Given the description of an element on the screen output the (x, y) to click on. 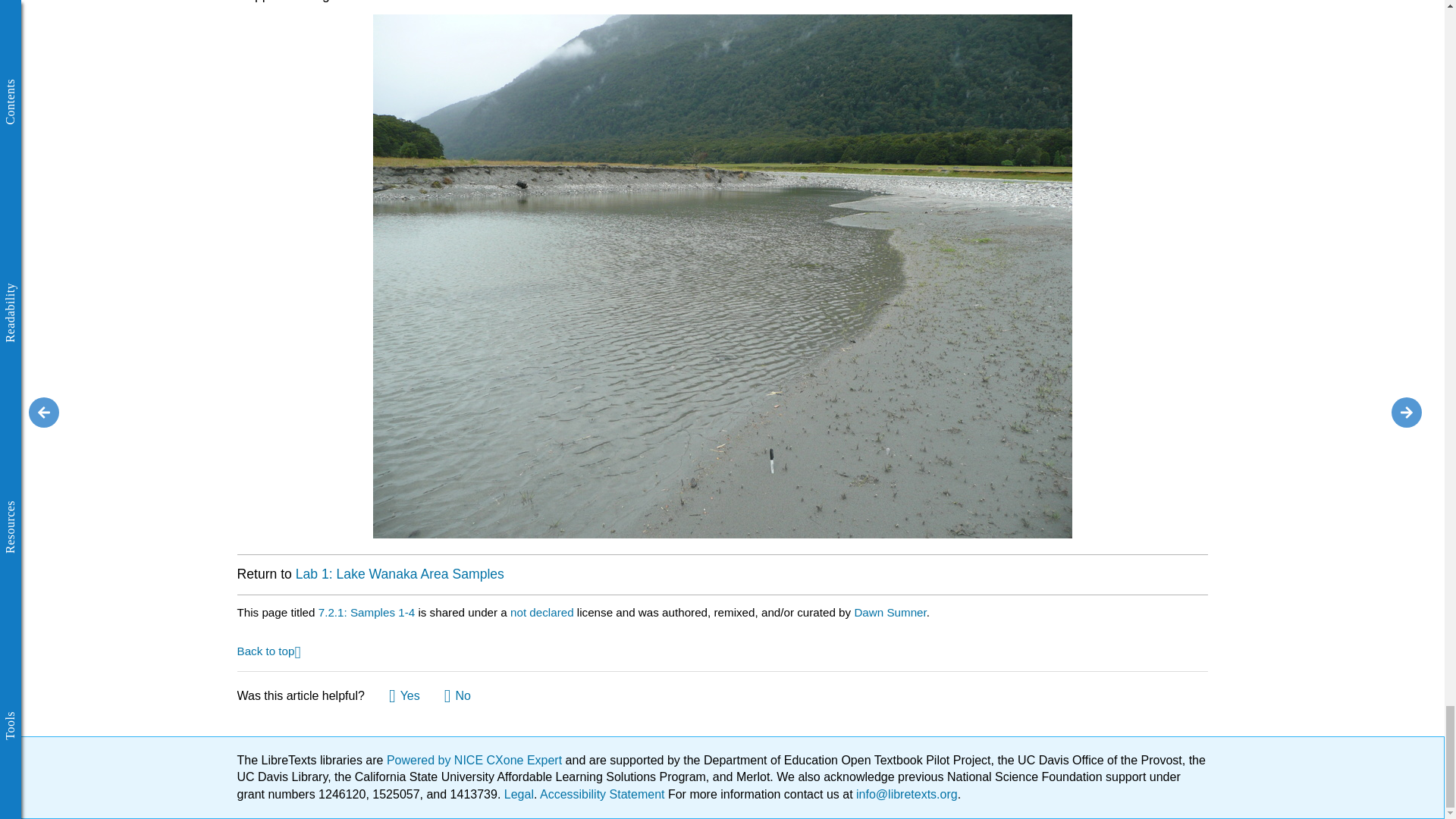
Jump back to top of this article (267, 650)
Lab 1: Lake Wanaka Area Samples (397, 573)
